Given the description of an element on the screen output the (x, y) to click on. 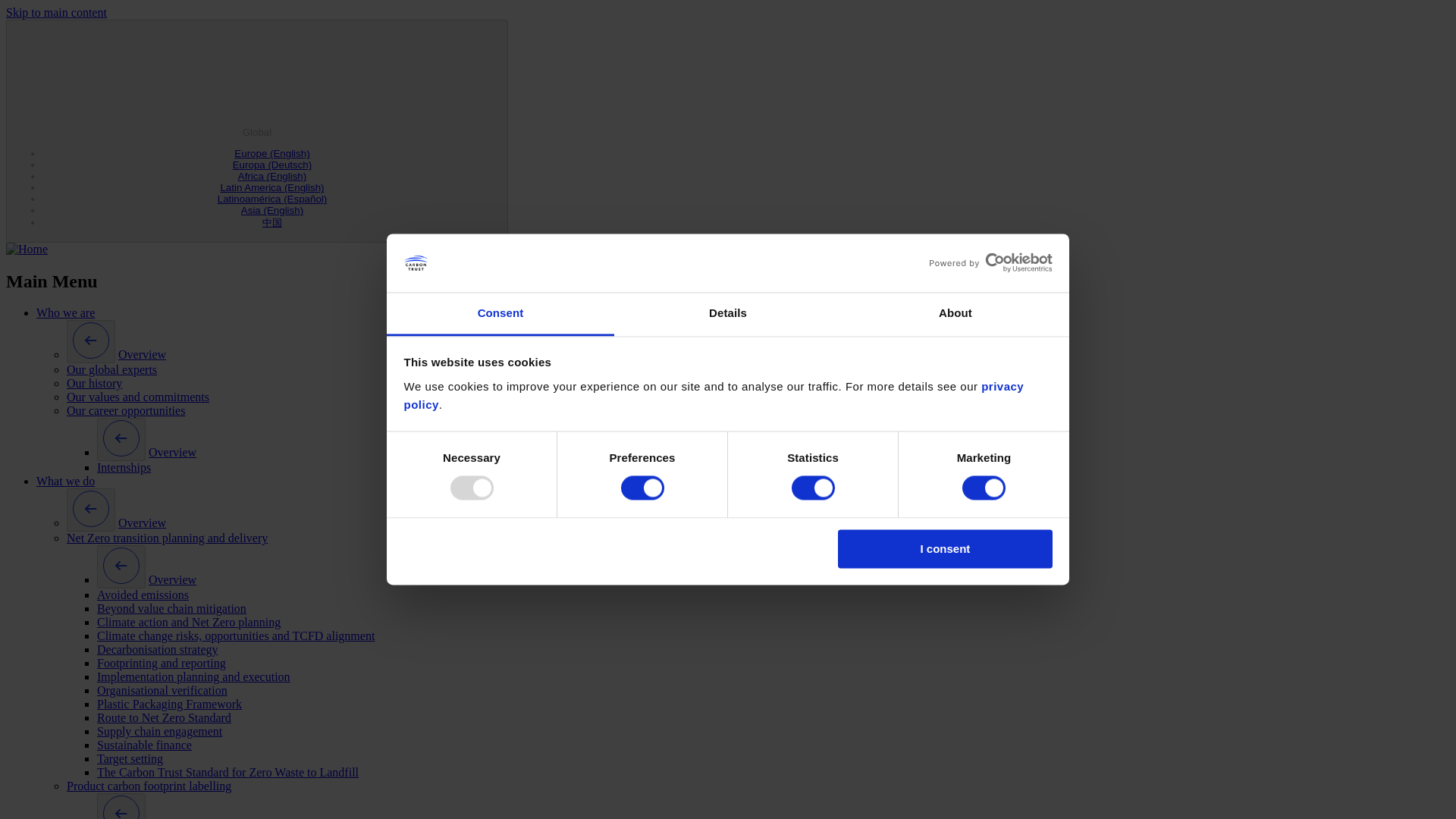
About (954, 313)
Details (727, 313)
Consent (500, 313)
privacy policy (713, 395)
